Given the description of an element on the screen output the (x, y) to click on. 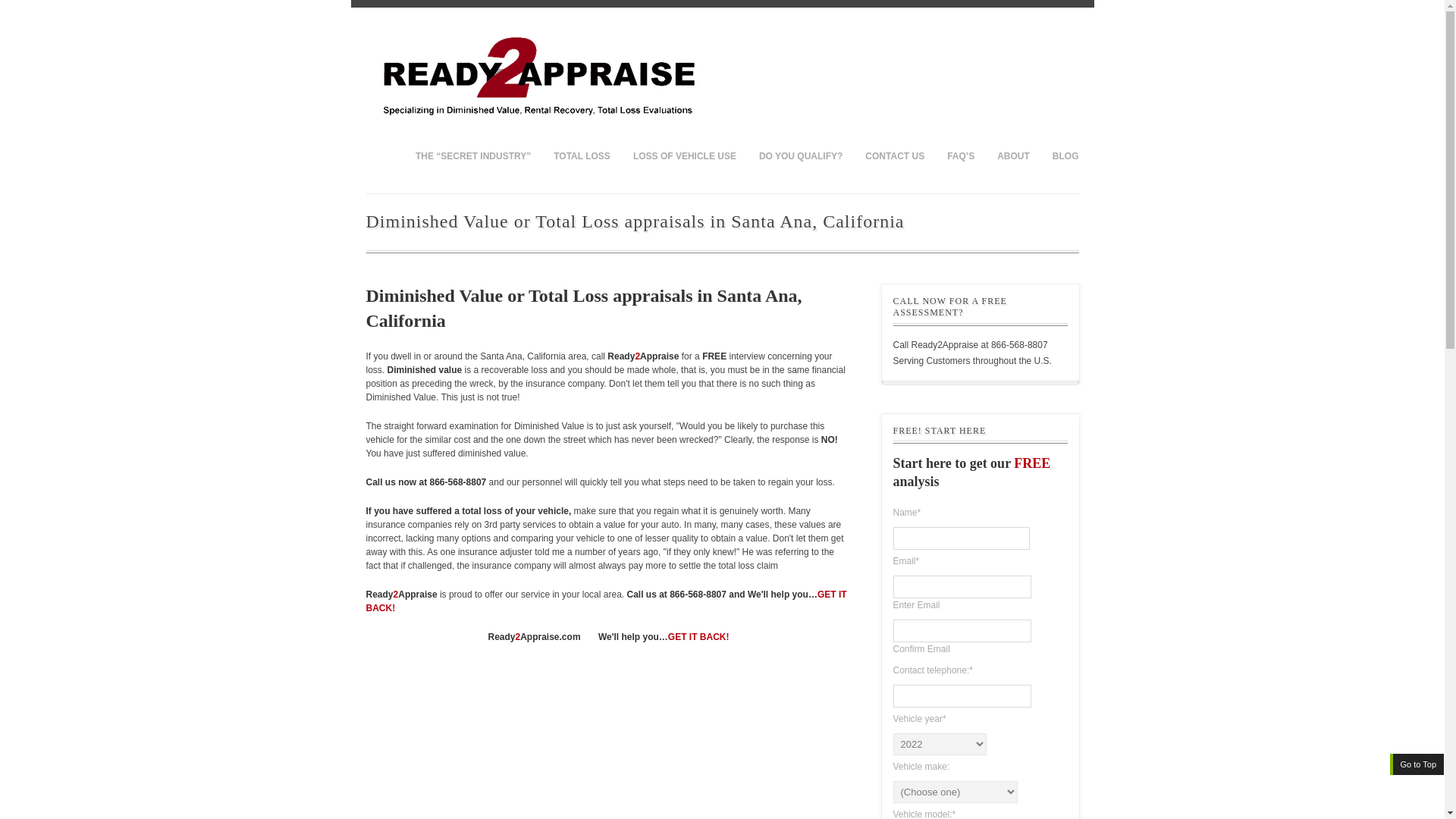
BLOG (1059, 155)
LOSS OF VEHICLE USE (684, 155)
CONTACT US (894, 155)
TOTAL LOSS (581, 155)
DO YOU QUALIFY? (800, 155)
ABOUT (1013, 155)
